Given the description of an element on the screen output the (x, y) to click on. 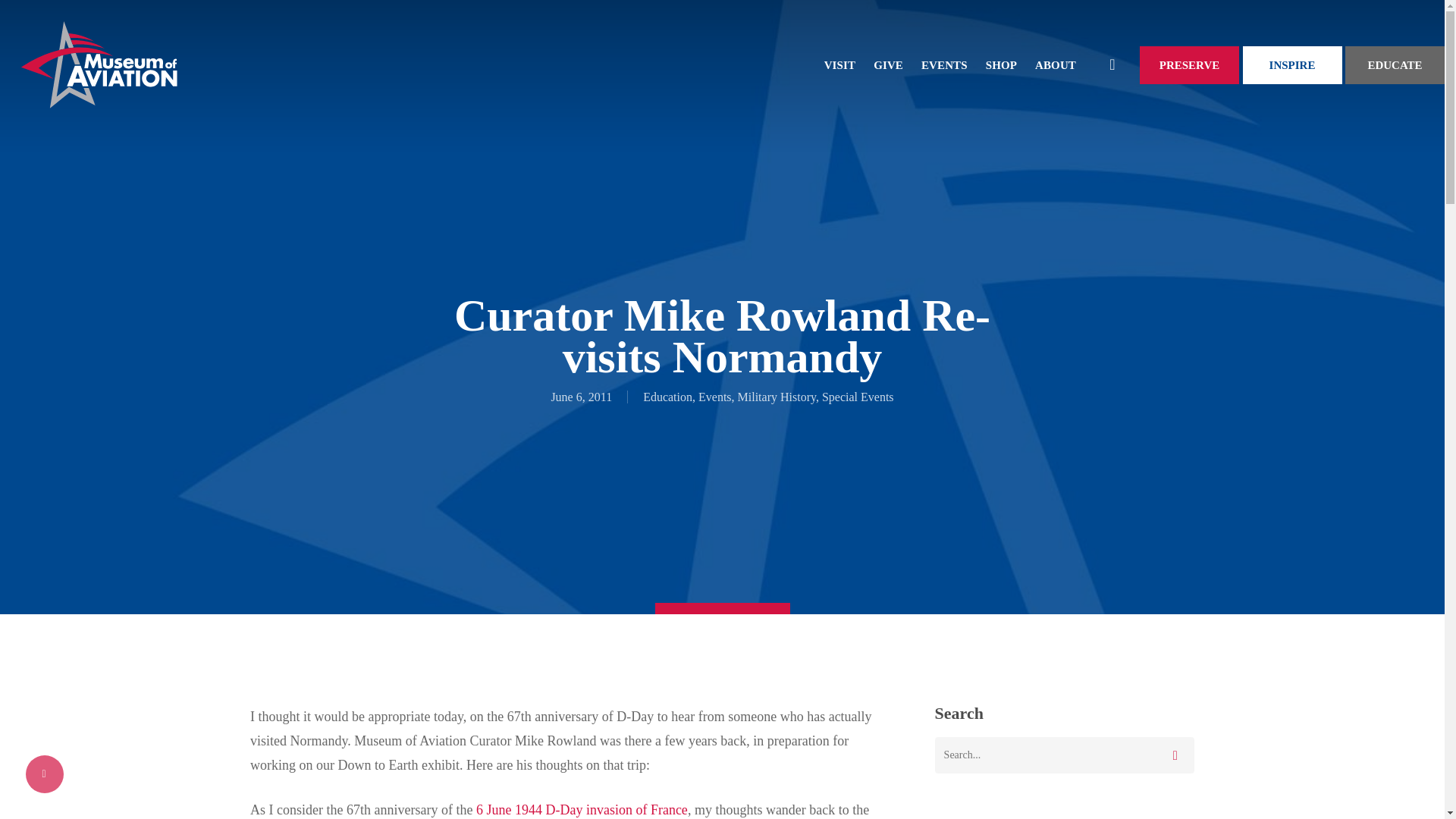
SHOP (1001, 64)
ABOUT (1055, 64)
VISIT (839, 64)
Search for: (1063, 755)
EVENTS (944, 64)
GIVE (888, 64)
